Given the description of an element on the screen output the (x, y) to click on. 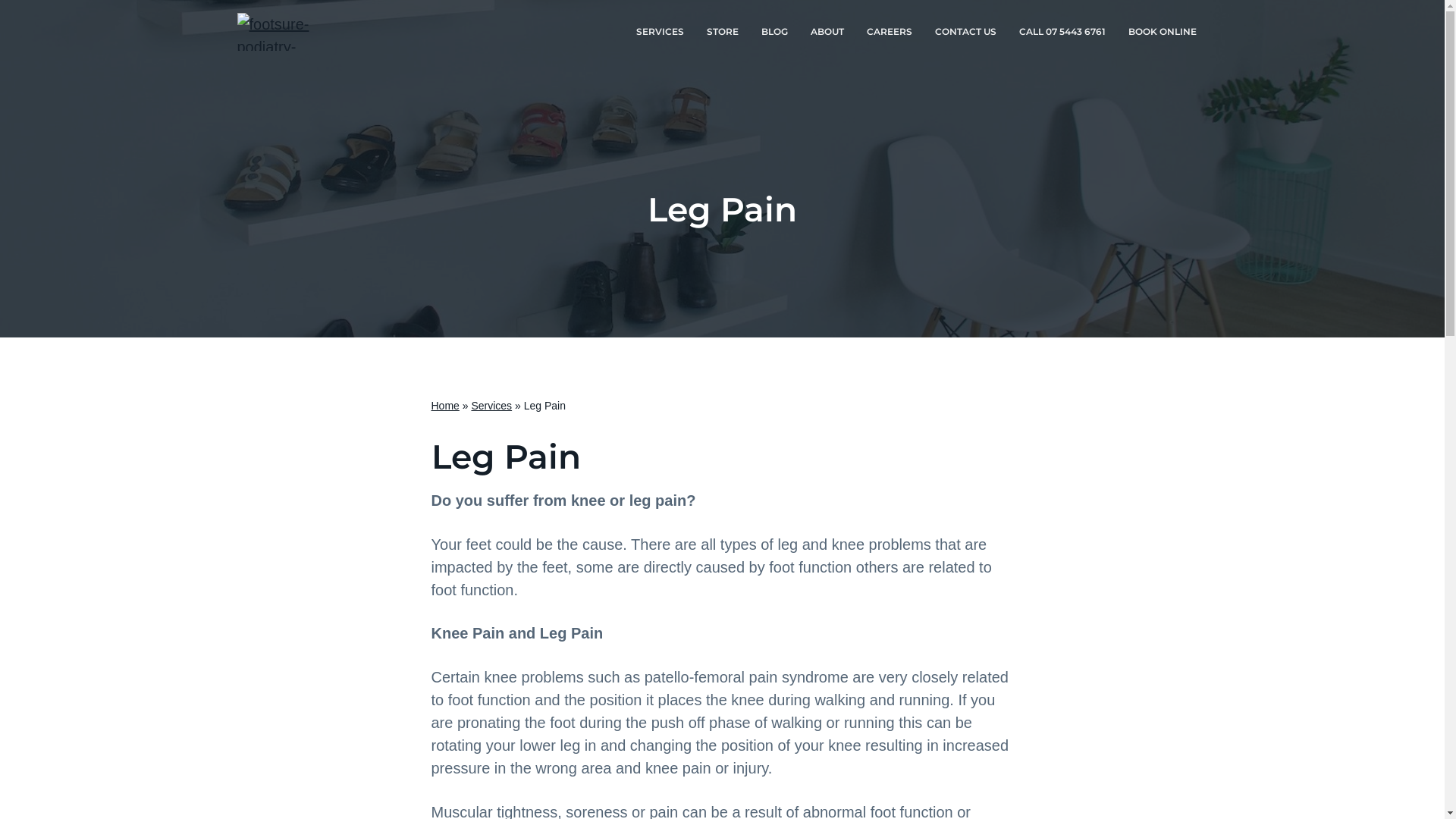
Home Element type: text (444, 405)
Services Element type: text (490, 405)
CAREERS Element type: text (889, 31)
ABOUT Element type: text (827, 31)
BLOG Element type: text (773, 31)
STORE Element type: text (721, 31)
Skip to primary navigation Element type: text (0, 0)
BOOK ONLINE Element type: text (1161, 31)
SERVICES Element type: text (659, 31)
CALL 07 5443 6761 Element type: text (1061, 31)
CONTACT US Element type: text (965, 31)
